Given the description of an element on the screen output the (x, y) to click on. 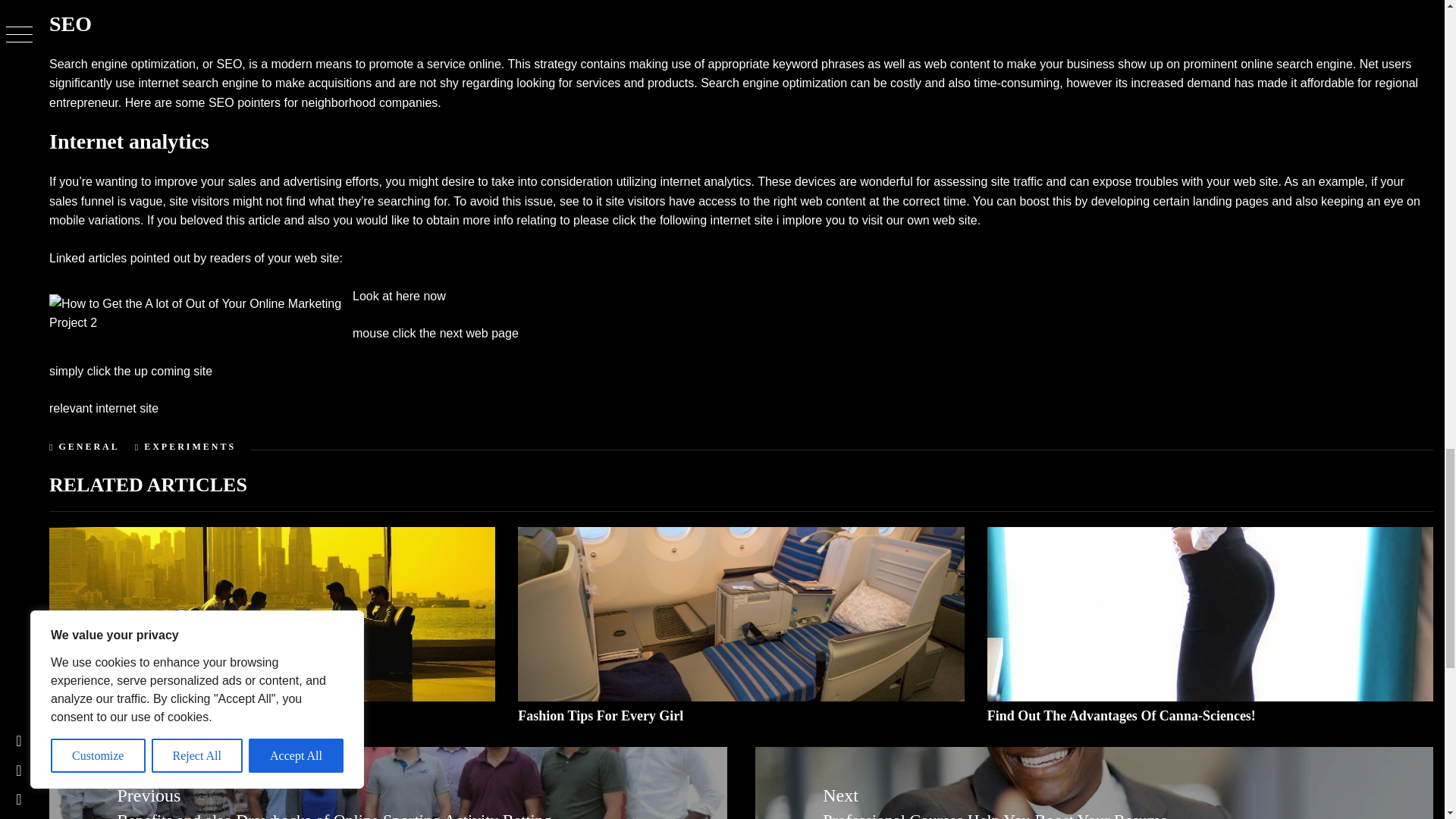
EXPERIMENTS (189, 446)
simply click the up coming site (130, 370)
mouse click the next web page (435, 332)
relevant internet site (103, 408)
Look at here now (398, 295)
GENERAL (88, 446)
please click the following internet site (673, 219)
